Given the description of an element on the screen output the (x, y) to click on. 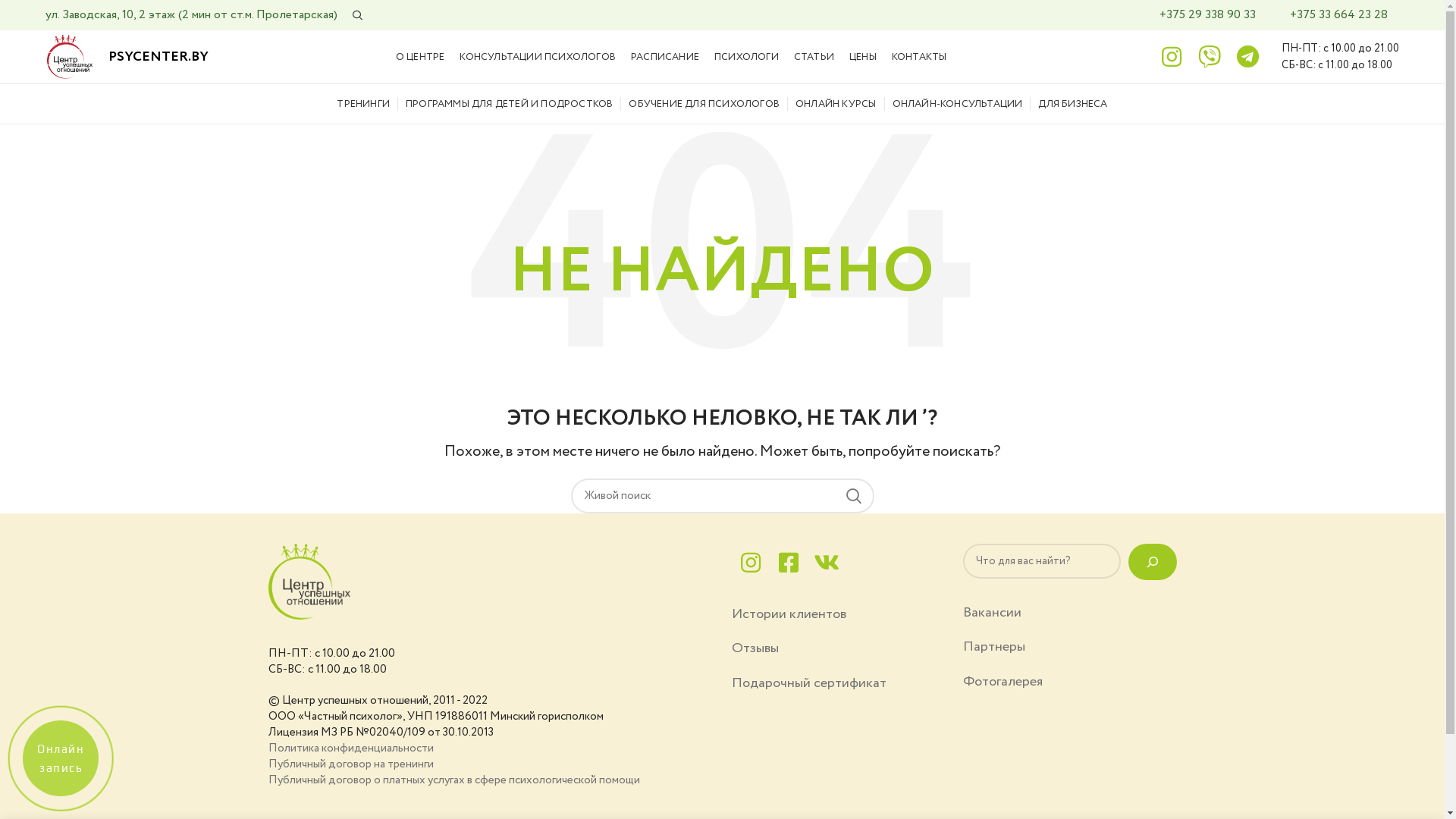
viber Element type: hover (1209, 56)
instagram Element type: hover (749, 562)
instagram Element type: hover (1171, 56)
instagram Element type: hover (1171, 56)
+375 29 338 90 33 Element type: text (1207, 14)
telegram Element type: hover (1247, 56)
vk Element type: hover (825, 562)
+375 33 664 23 28 Element type: text (1338, 14)
instagram Element type: hover (749, 562)
vk Element type: hover (825, 562)
PSYCENTER.BY Element type: text (158, 56)
viber Element type: hover (1209, 56)
facebook Element type: hover (787, 562)
facebook Element type: hover (787, 562)
telegram Element type: hover (1247, 56)
